Given the description of an element on the screen output the (x, y) to click on. 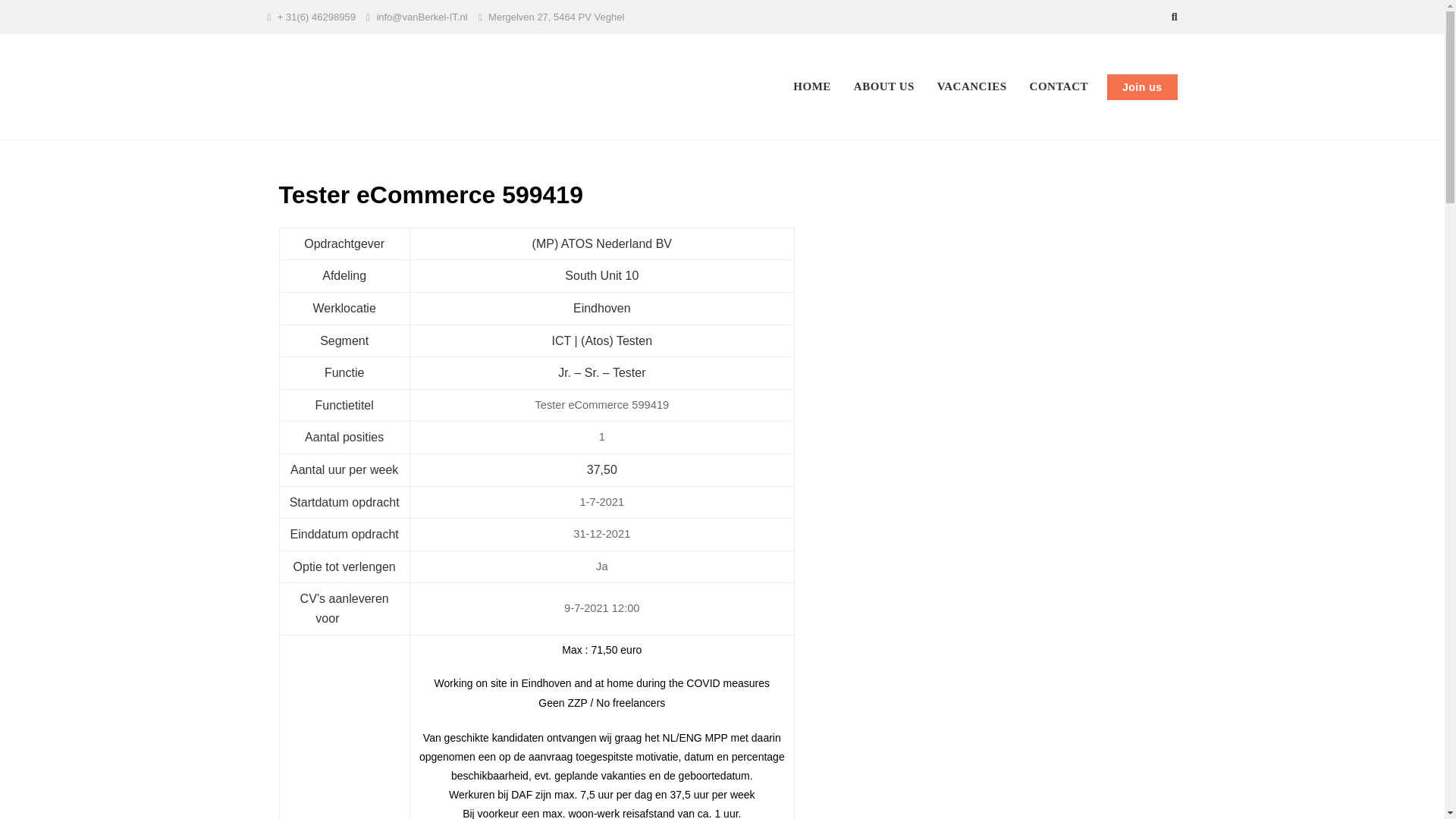
HOME (812, 86)
Search (113, 6)
CONTACT (1058, 86)
VACANCIES (971, 86)
Join us (1141, 86)
ABOUT US (884, 86)
